Given the description of an element on the screen output the (x, y) to click on. 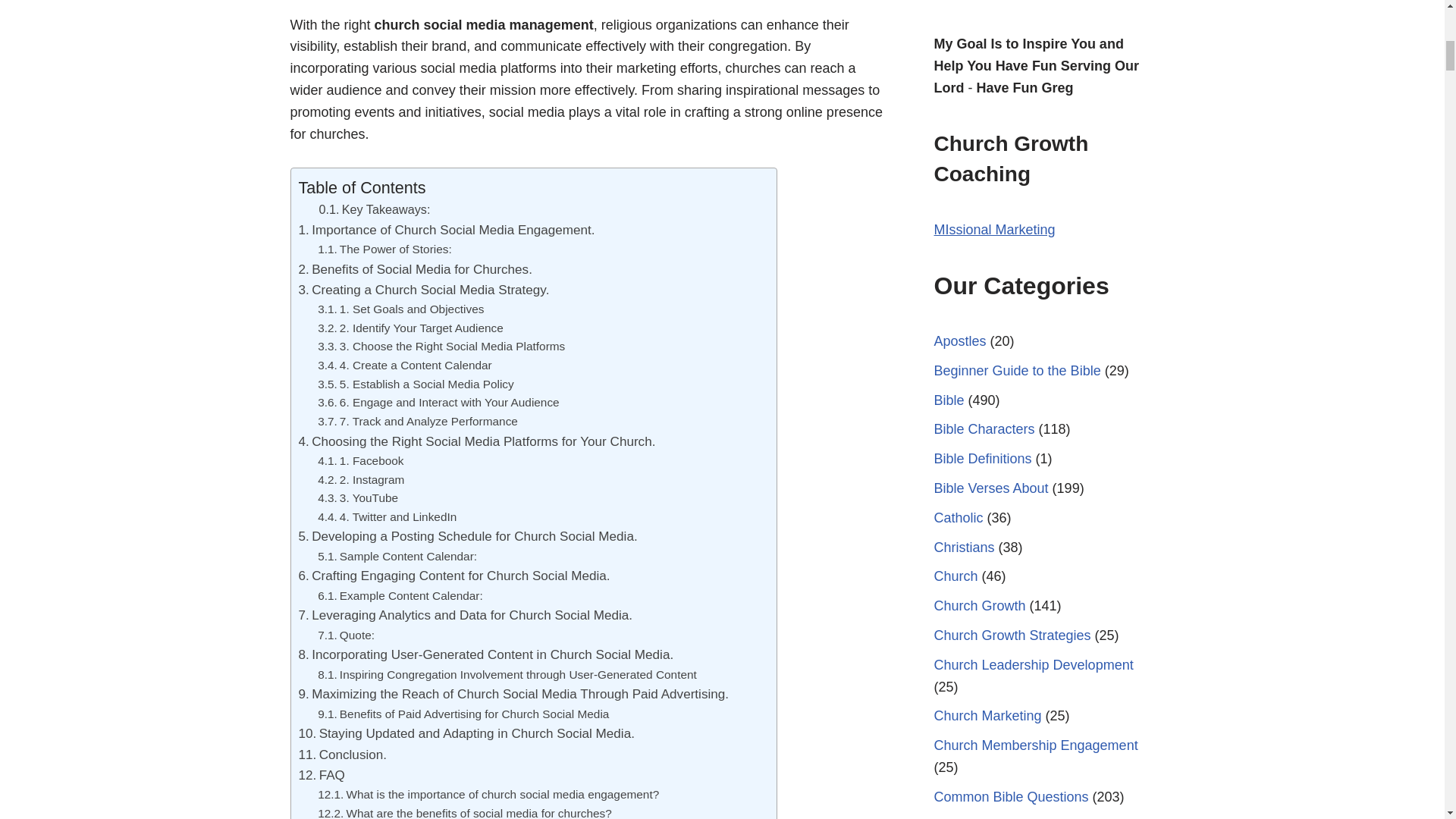
6. Engage and Interact with Your Audience (438, 402)
Choosing the Right Social Media Platforms for Your Church. (477, 441)
3. Choose the Right Social Media Platforms (440, 346)
Importance of Church Social Media Engagement. (446, 230)
Benefits of Social Media for Churches. (415, 269)
5. Establish a Social Media Policy (415, 384)
The Power of Stories: (384, 249)
7. Track and Analyze Performance (417, 421)
2. Identify Your Target Audience (410, 328)
Creating a Church Social Media Strategy. (424, 290)
